Given the description of an element on the screen output the (x, y) to click on. 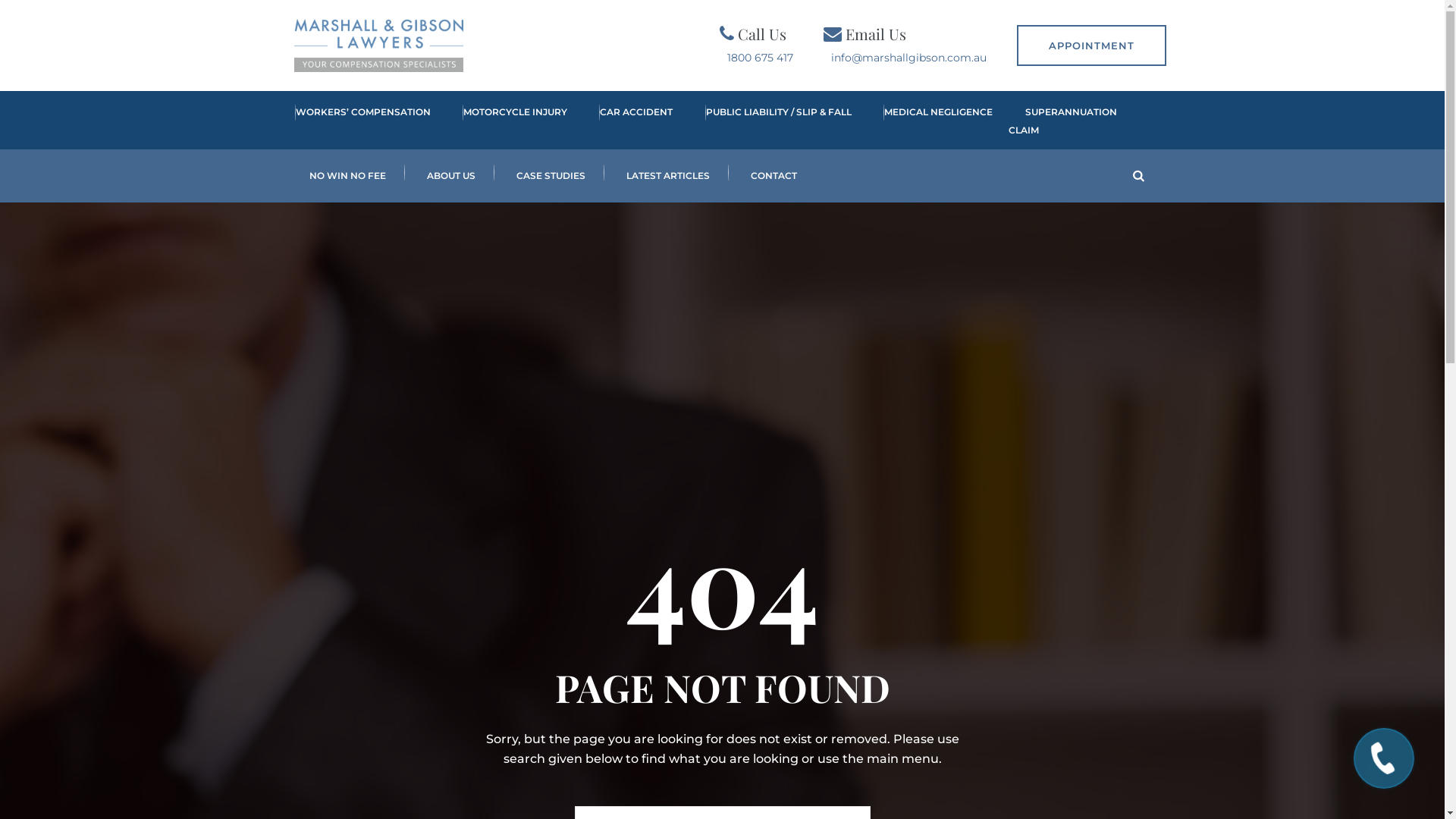
LATEST ARTICLES Element type: text (667, 175)
SUPERANNUATION CLAIM Element type: text (1062, 120)
NO WIN NO FEE Element type: text (346, 175)
MOTORCYCLE INJURY Element type: text (506, 120)
1800 675 417 Element type: text (759, 57)
PUBLIC LIABILITY / SLIP & FALL Element type: text (770, 120)
CAR ACCIDENT Element type: text (627, 120)
CONTACT Element type: text (773, 175)
info@marshallgibson.com.au Element type: text (908, 57)
ABOUT US Element type: text (450, 175)
APPOINTMENT Element type: text (1090, 45)
MEDICAL NEGLIGENCE Element type: text (929, 120)
Email Us Element type: text (874, 33)
CASE STUDIES Element type: text (550, 175)
MG Compensation Lawyers Sydney Element type: hover (378, 45)
